Given the description of an element on the screen output the (x, y) to click on. 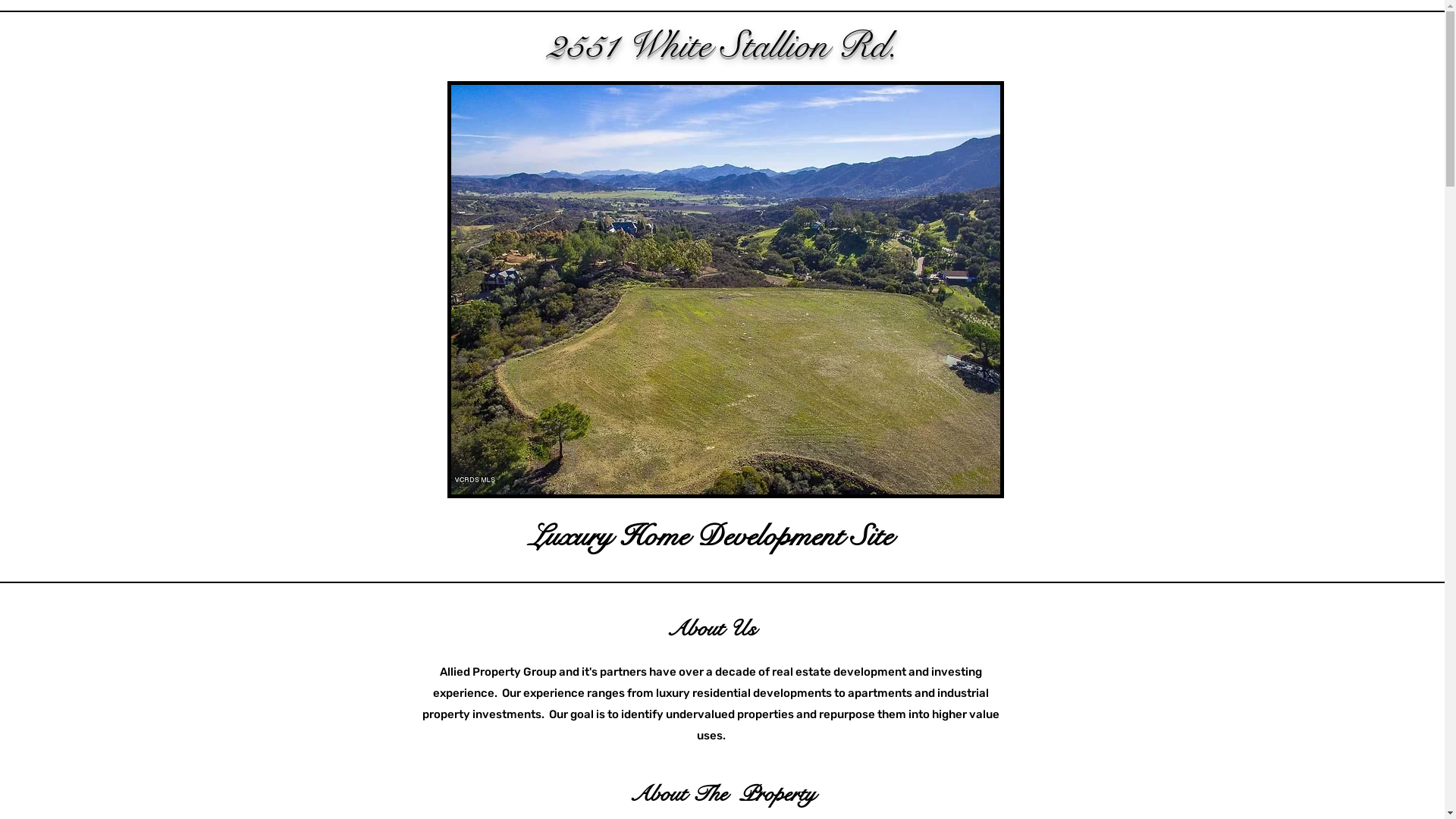
White Stallion 1.jpg Element type: hover (725, 289)
